Given the description of an element on the screen output the (x, y) to click on. 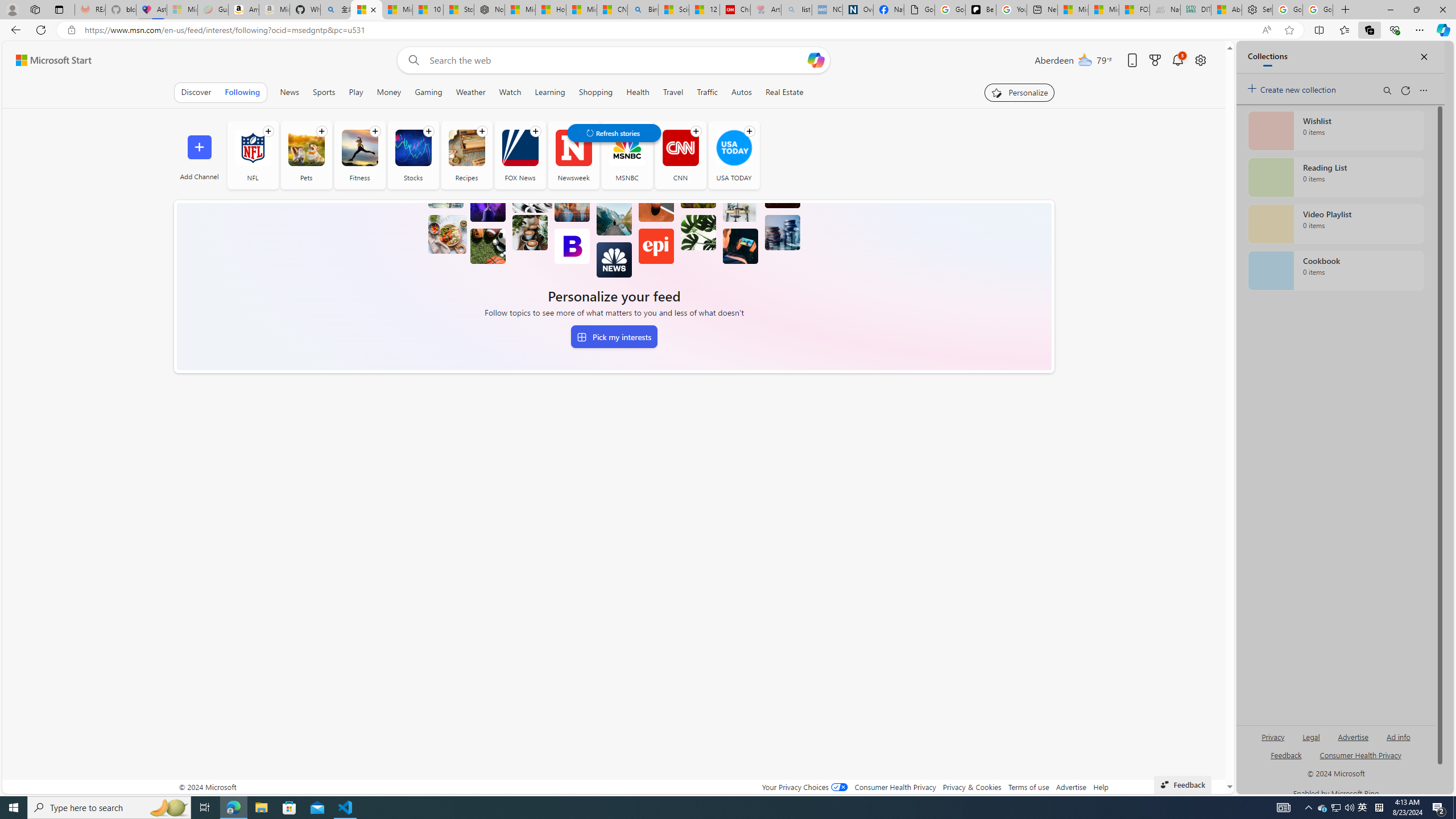
Web search (411, 60)
Open settings (1199, 60)
Money (389, 92)
Pets (306, 147)
Nordace - Nordace Siena Is Not An Ordinary Backpack (488, 9)
NFL (252, 155)
Help (1100, 786)
Personalize your feed" (1019, 92)
Newsweek (573, 155)
CNN (680, 147)
Real Estate (784, 92)
Follow channel (749, 130)
Be Smart | creating Science videos | Patreon (980, 9)
Gaming (428, 92)
